Given the description of an element on the screen output the (x, y) to click on. 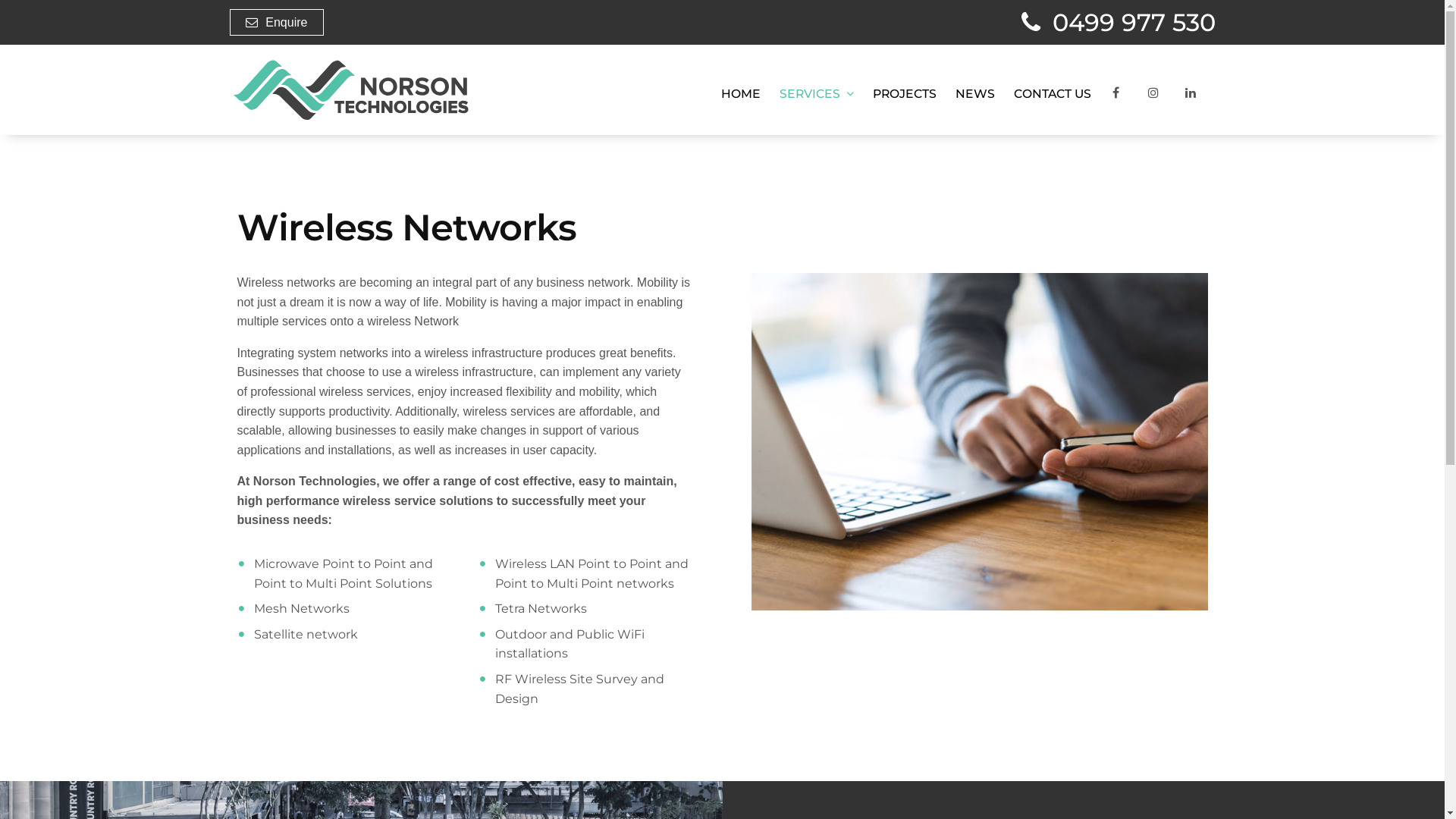
SERVICES Element type: text (816, 93)
PROJECTS Element type: text (904, 93)
0499 977 530 Element type: text (1117, 22)
CONTACT US Element type: text (1052, 93)
HOME Element type: text (740, 93)
Enquire Element type: text (276, 22)
NEWS Element type: text (974, 93)
